Given the description of an element on the screen output the (x, y) to click on. 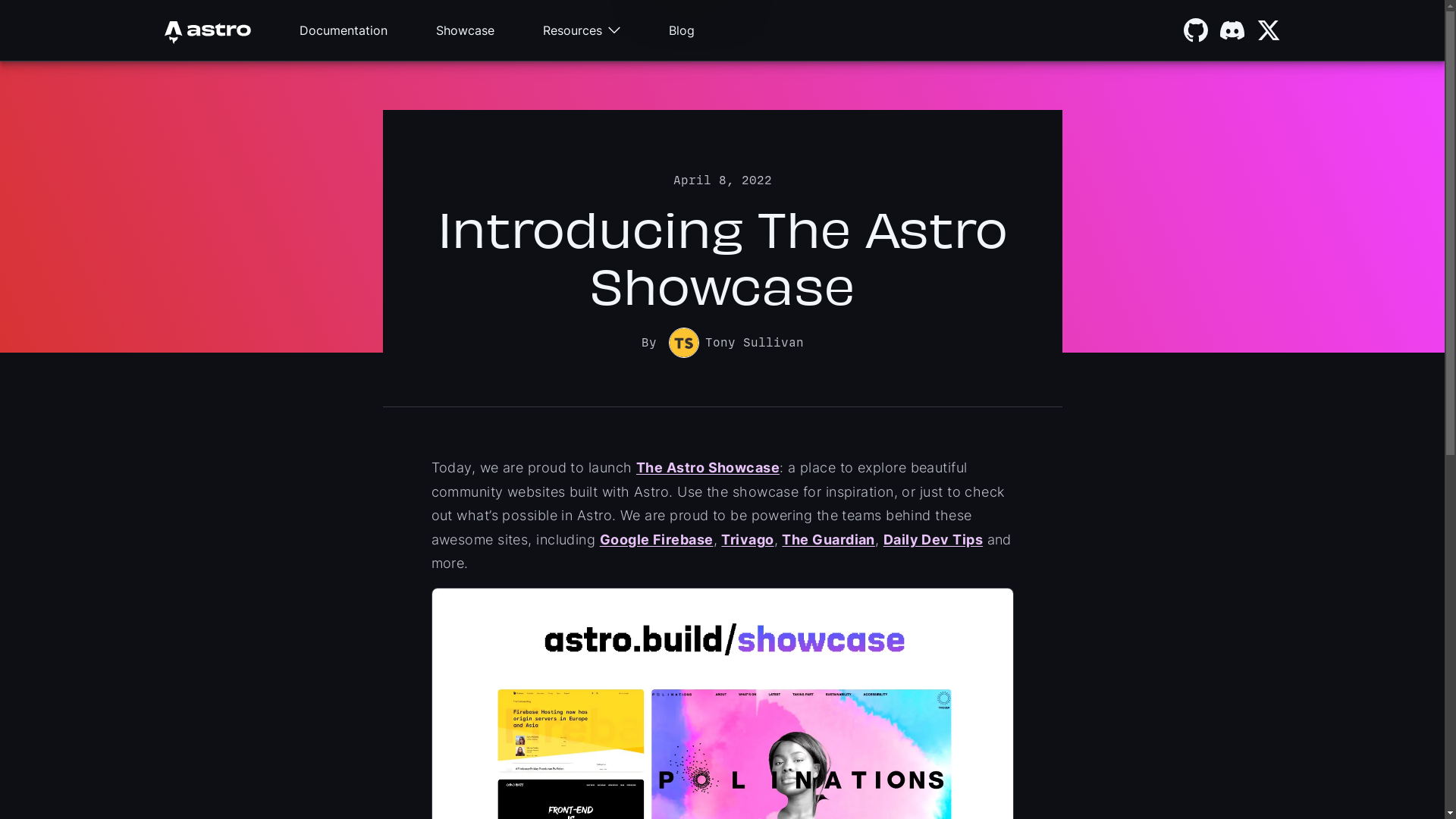
Google Firebase Element type: text (656, 538)
Documentation Element type: text (342, 30)
Showcase Element type: text (464, 30)
Trivago Element type: text (747, 538)
Blog Element type: text (681, 30)
The Guardian Element type: text (827, 538)
Follow Astro on Twitter Element type: text (1267, 30)
Join the Astro community on Discord Element type: text (1231, 30)
Home Element type: hover (206, 29)
The Astro Showcase Element type: text (707, 467)
Daily Dev Tips Element type: text (932, 538)
Go to Astro's GitHub repo Element type: text (1195, 30)
